Given the description of an element on the screen output the (x, y) to click on. 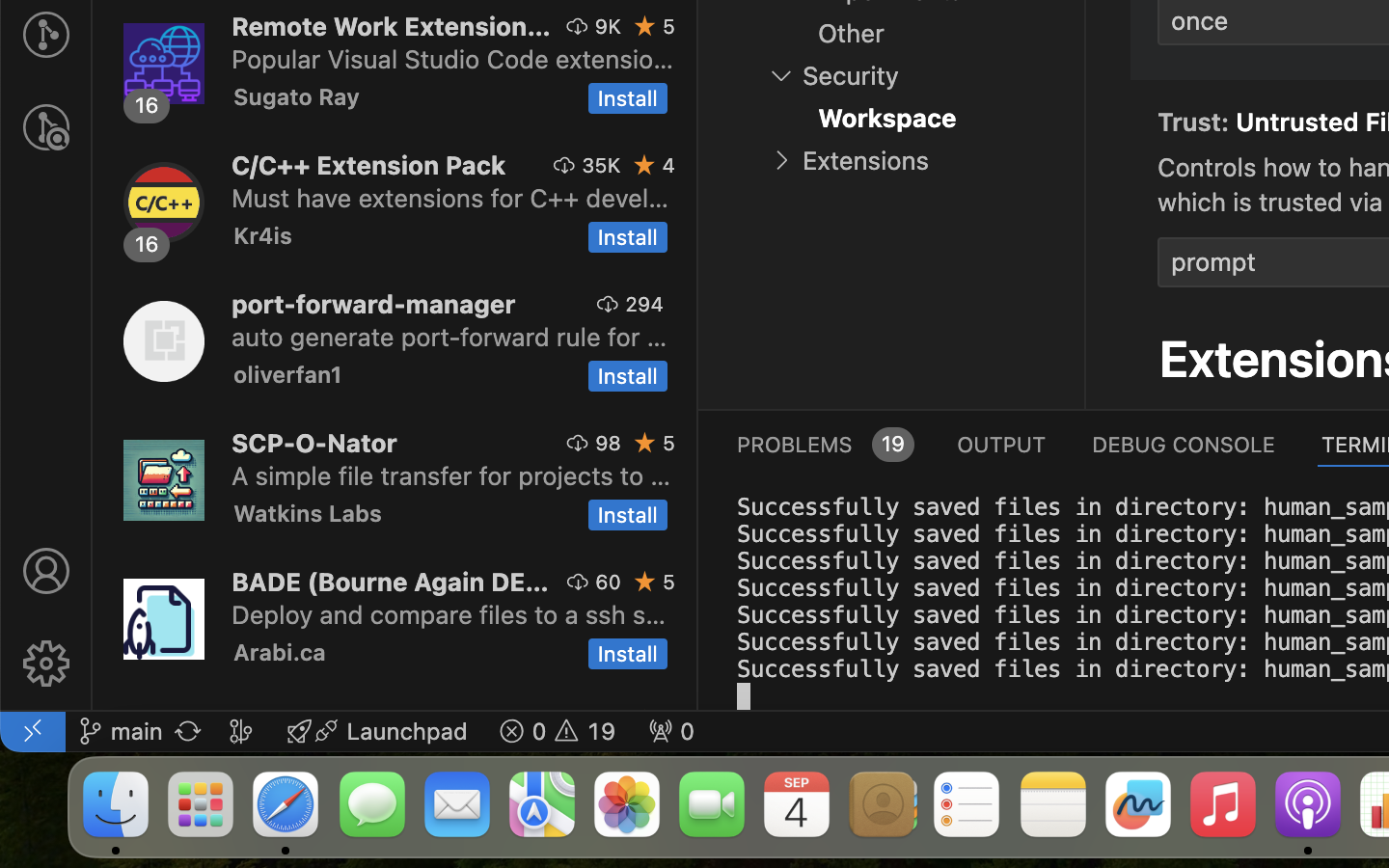
Must have extensions for C++ development in Visual Studio Code. Element type: AXStaticText (450, 197)
BADE (Bourne Again DEploy) Element type: AXStaticText (390, 581)
Watkins Labs Element type: AXStaticText (307, 512)
SCP-O-Nator Element type: AXStaticText (314, 442)
0 OUTPUT Element type: AXRadioButton (1001, 443)
